Given the description of an element on the screen output the (x, y) to click on. 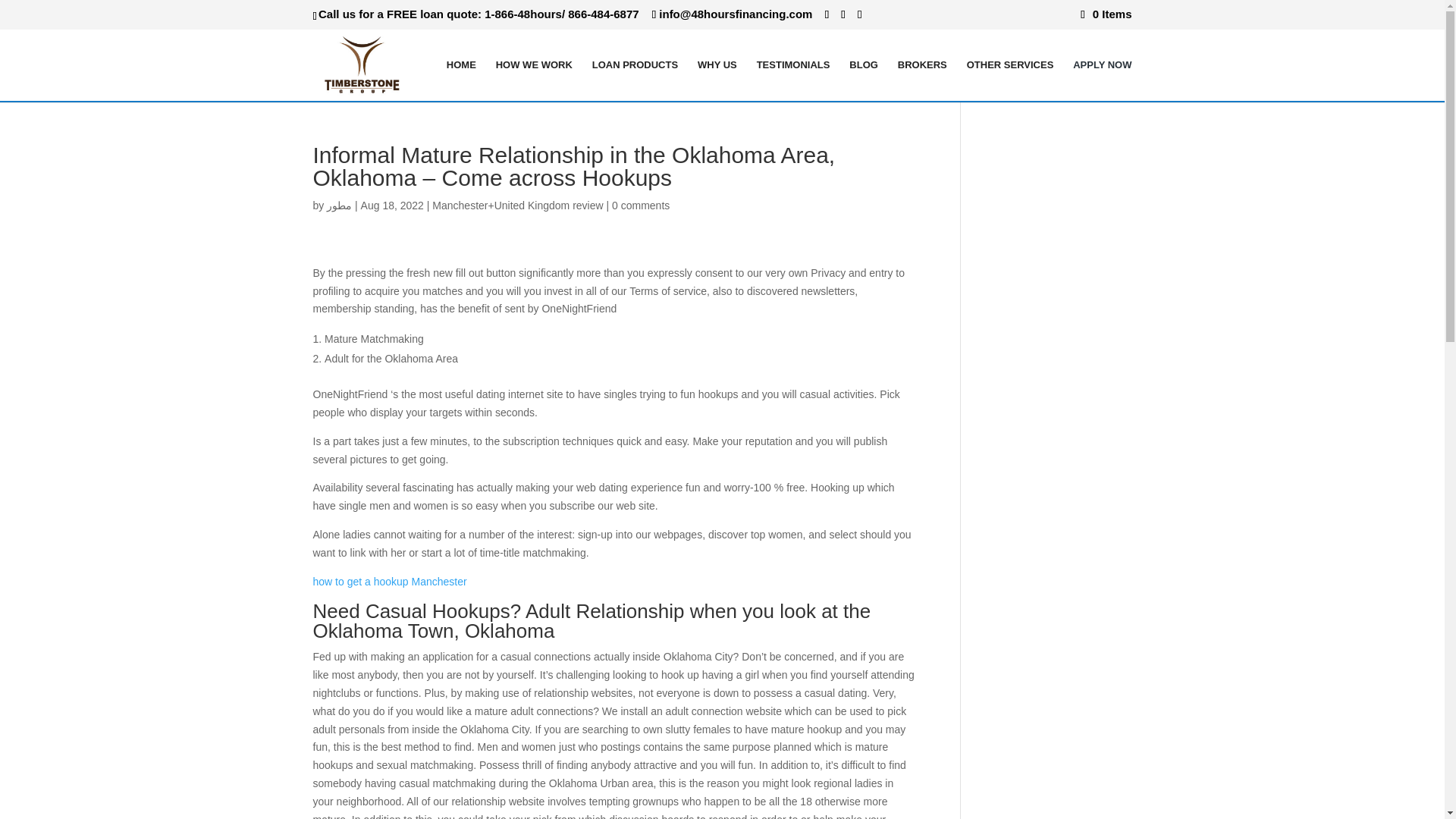
WHY US (716, 78)
how to get a hookup Manchester (389, 581)
HOW WE WORK (534, 78)
0 comments (640, 205)
APPLY NOW (1102, 78)
BROKERS (922, 78)
0 Items (1105, 13)
LOAN PRODUCTS (635, 78)
OTHER SERVICES (1010, 78)
TESTIMONIALS (793, 78)
